Given the description of an element on the screen output the (x, y) to click on. 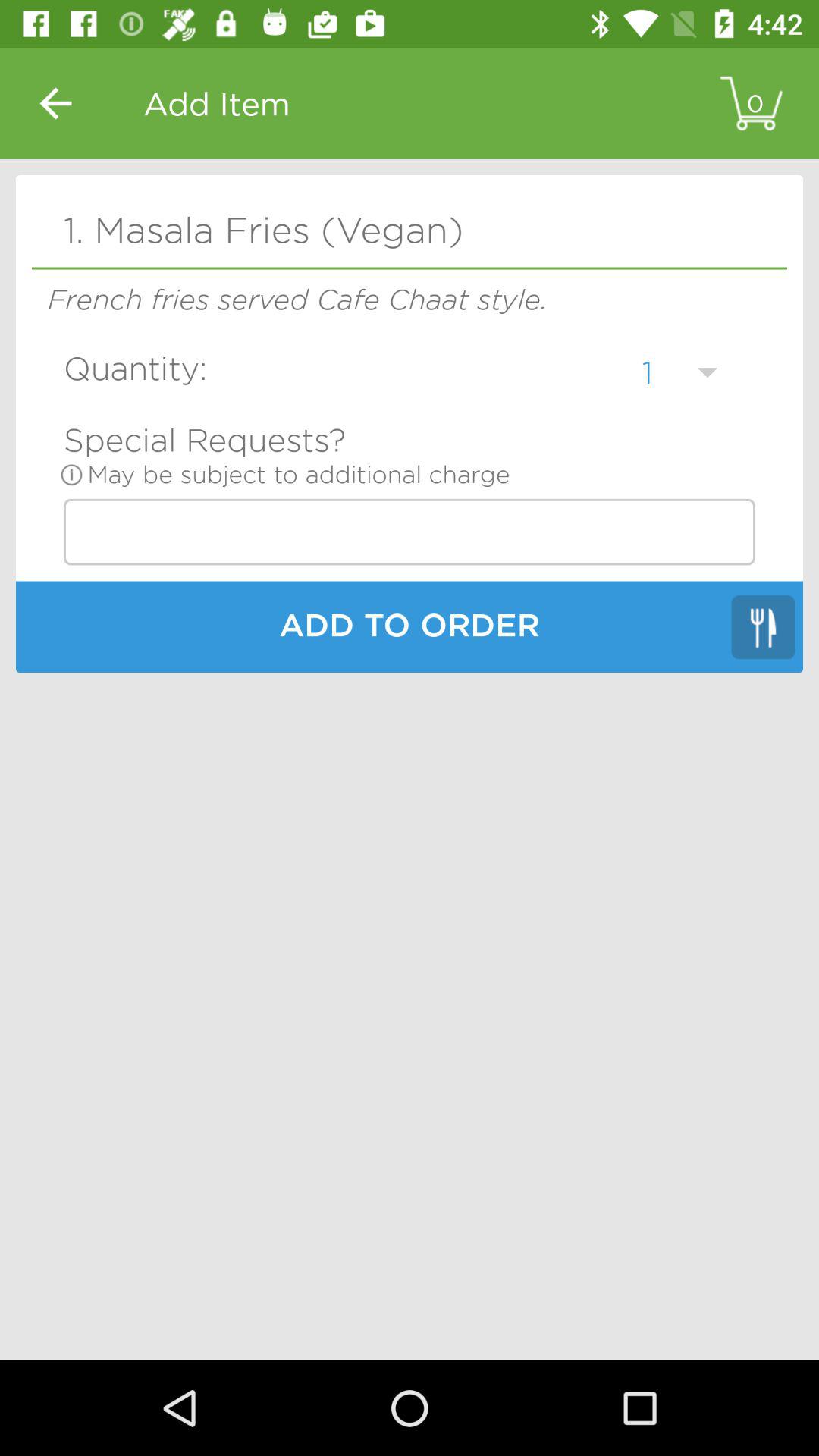
launch the icon above the 1 masala fries item (55, 103)
